Given the description of an element on the screen output the (x, y) to click on. 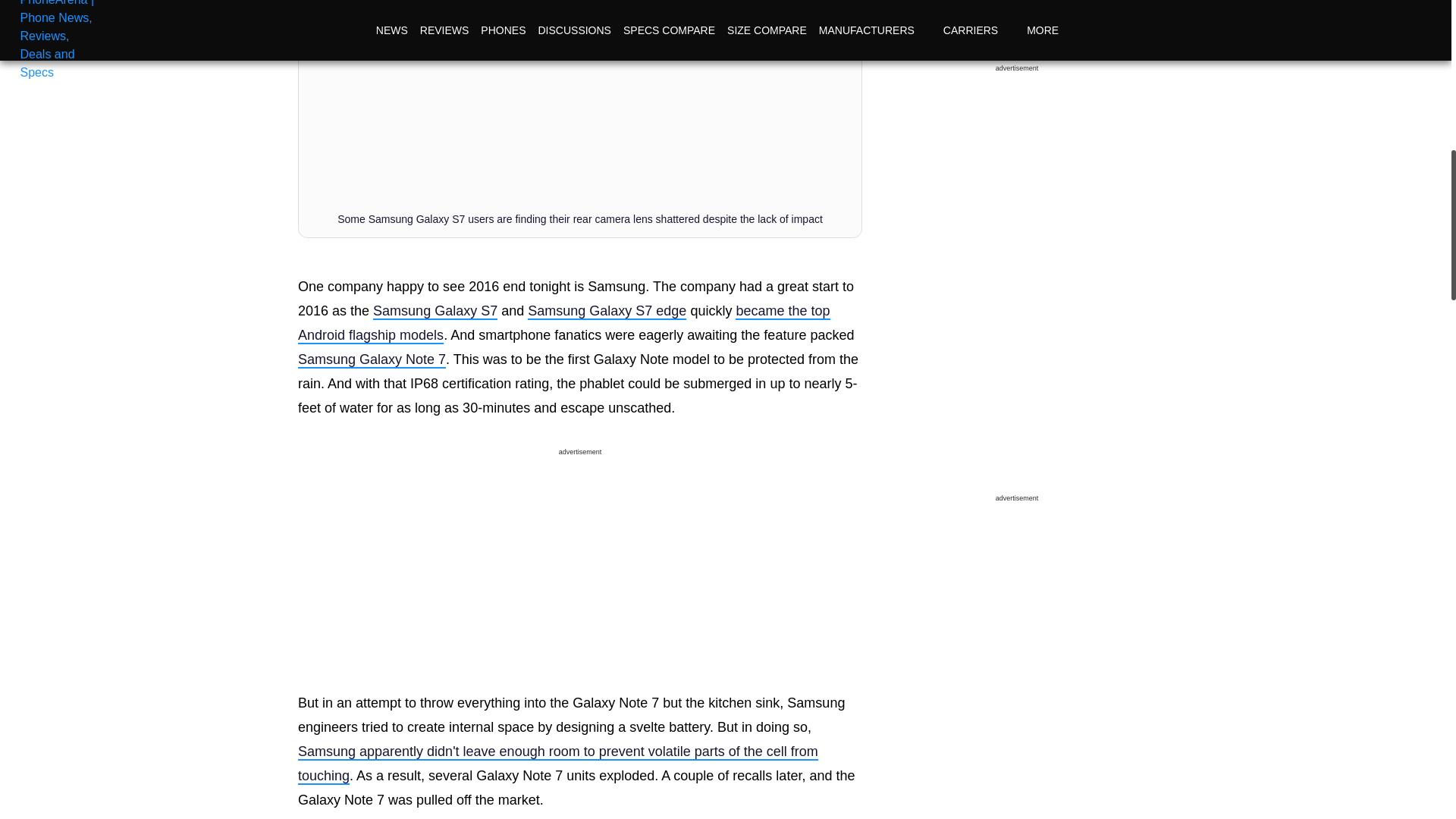
Samsung Galaxy Note 7 (371, 360)
Samsung Galaxy S7 (434, 311)
Samsung Galaxy S7 edge (606, 311)
